Given the description of an element on the screen output the (x, y) to click on. 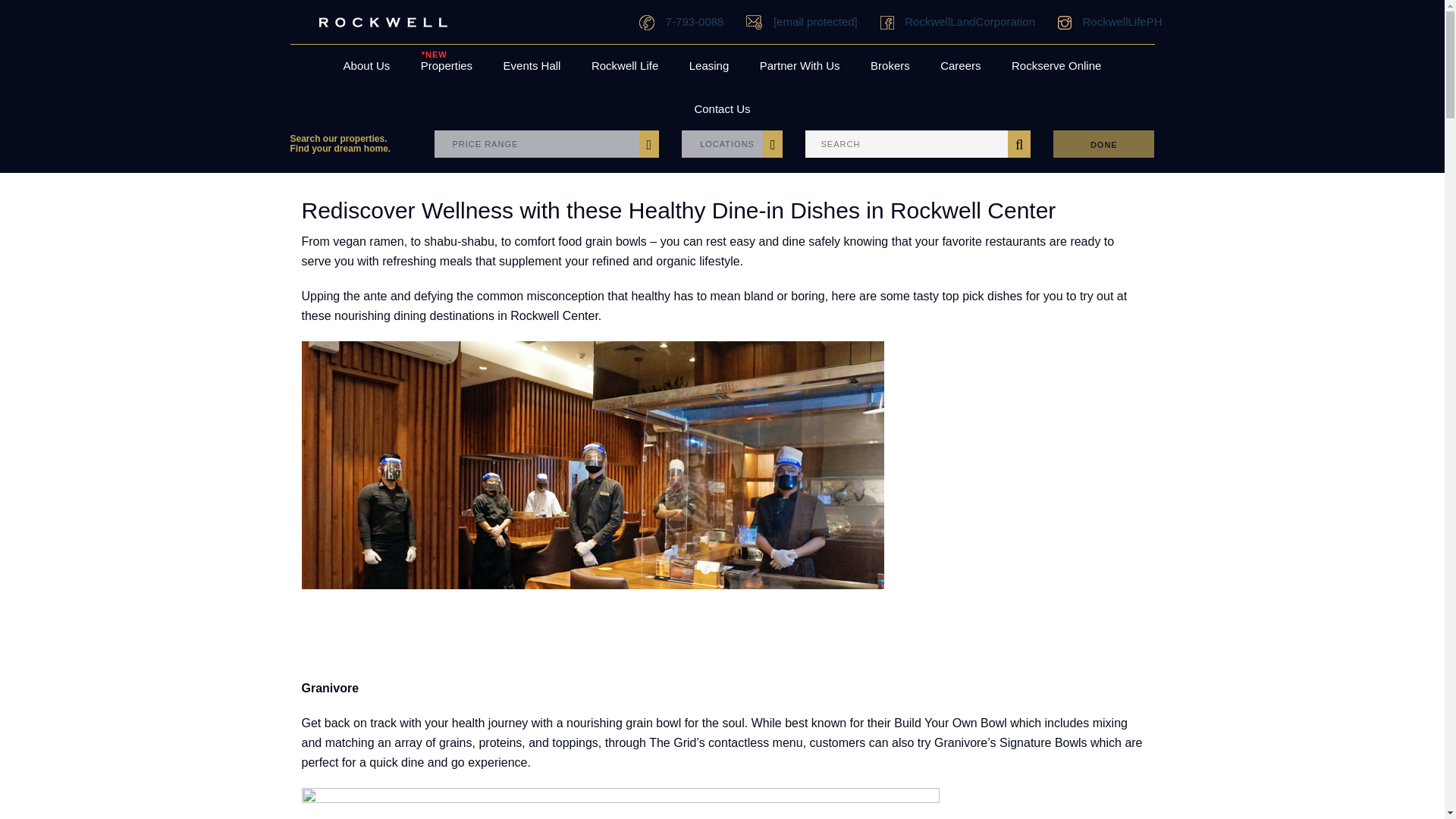
Leasing (708, 66)
RockwellLandCorporation (957, 22)
RockwellLifePH (1109, 22)
Events Hall (532, 66)
Rockwell Life (624, 66)
Brokers (890, 66)
7-793-0088 (681, 22)
About Us (367, 66)
Partner With Us (799, 66)
